Given the description of an element on the screen output the (x, y) to click on. 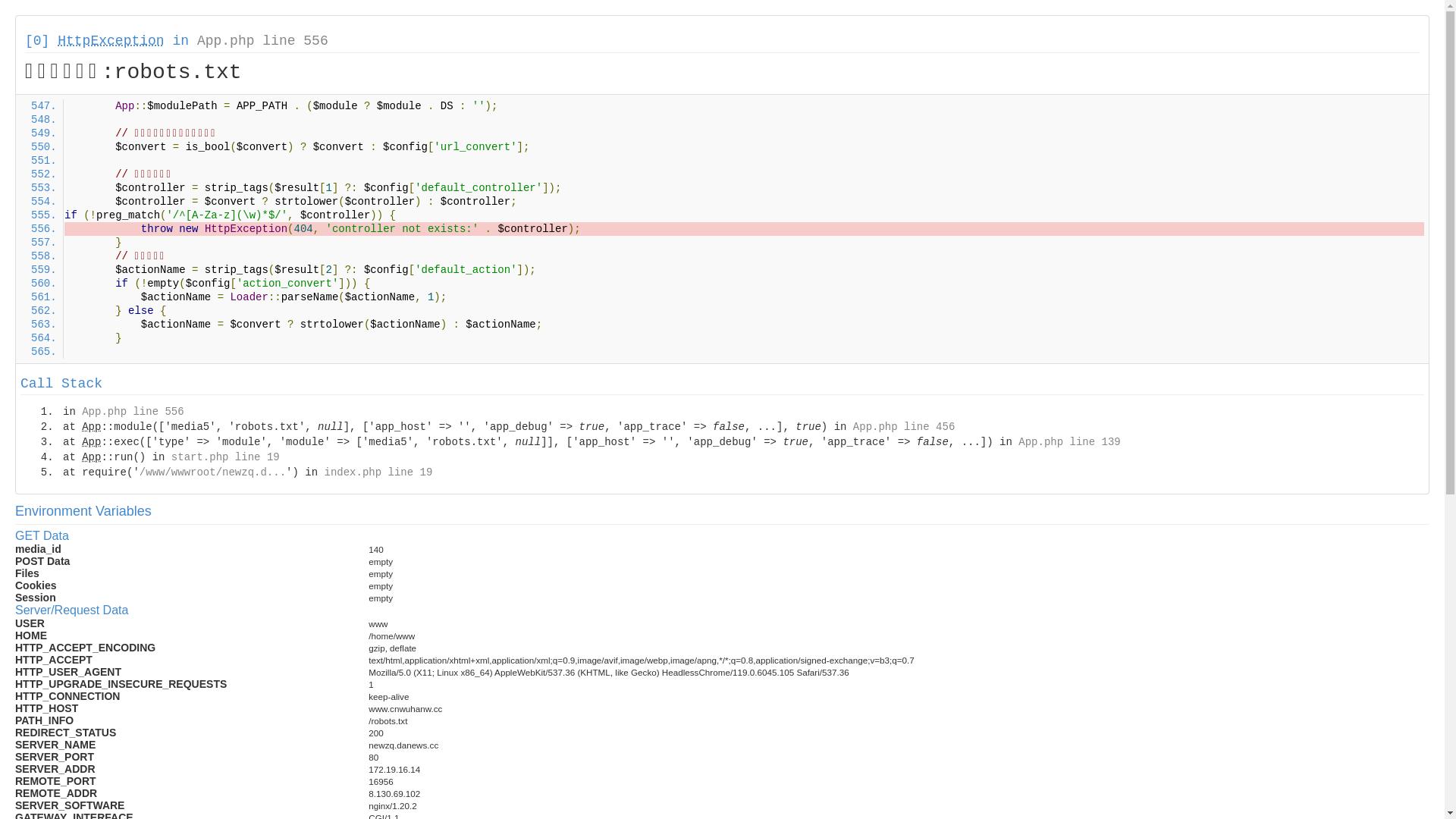
App.php line 556 Element type: text (262, 40)
index.php line 19 Element type: text (377, 472)
App.php line 556 Element type: text (132, 411)
App.php line 139 Element type: text (1069, 442)
/www/wwwroot/newzq.d... Element type: text (212, 472)
start.php line 19 Element type: text (225, 457)
App.php line 456 Element type: text (903, 426)
